Given the description of an element on the screen output the (x, y) to click on. 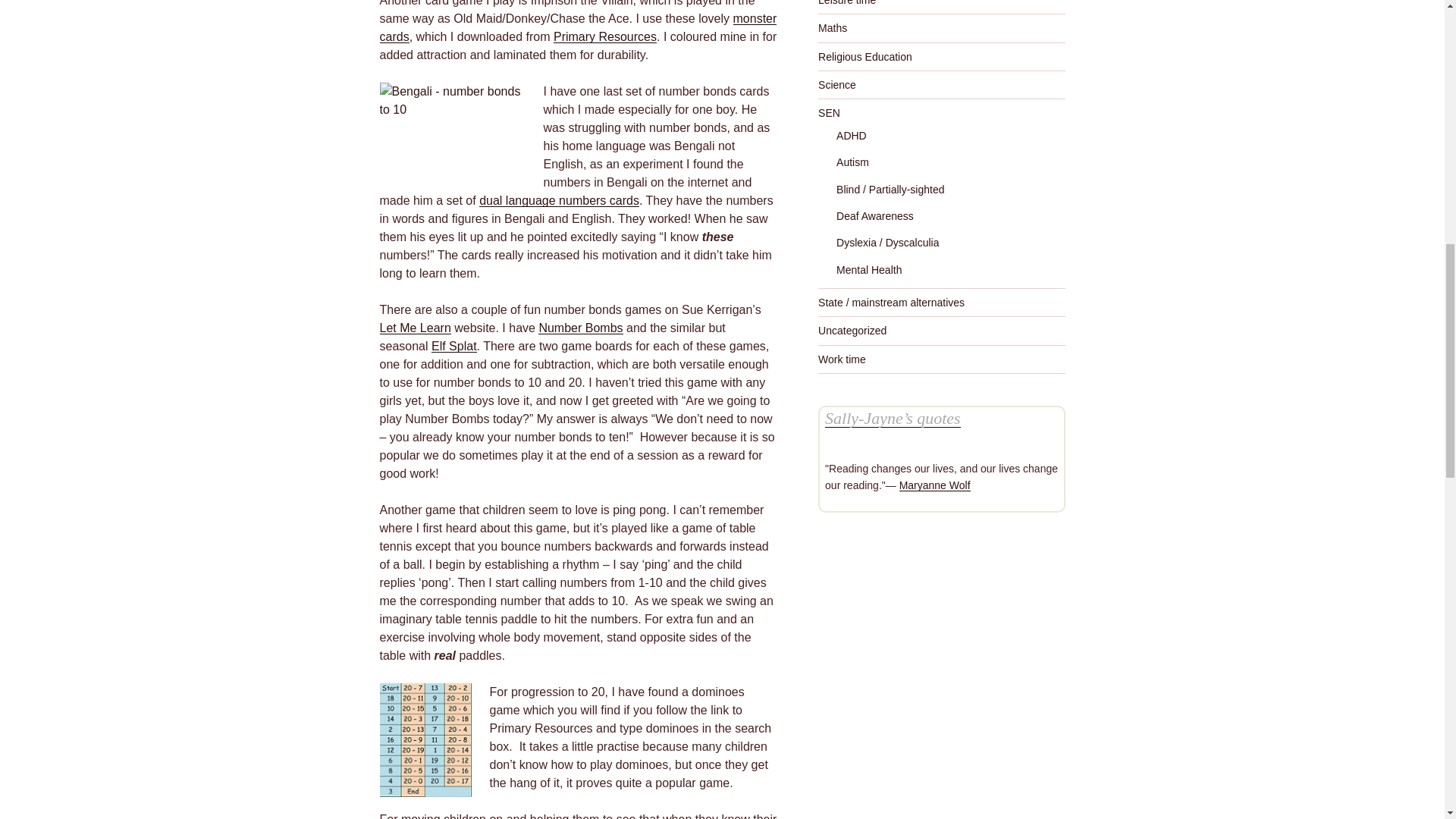
Maryanne Wolf quotes (935, 485)
monster cards (577, 27)
Number Bombs (580, 327)
Let Me Learn (413, 327)
Elf Splat (453, 345)
dual language numbers cards (559, 200)
Primary Resources (604, 36)
